Given the description of an element on the screen output the (x, y) to click on. 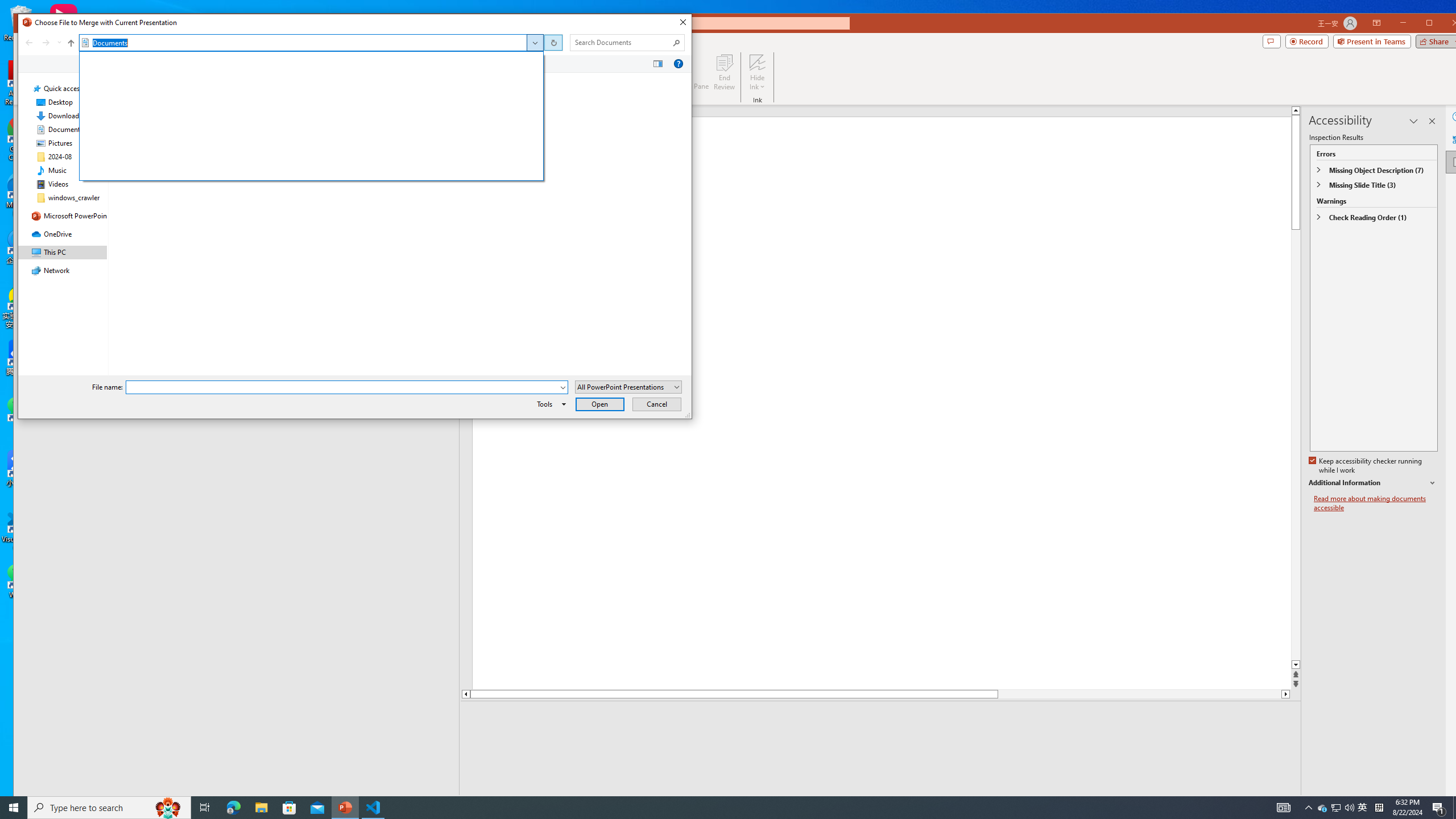
Navigation buttons (42, 42)
Q2790: 100% (1349, 807)
Tools (549, 404)
Sunlogin Files (286, 108)
Search Box (621, 42)
Type here to search (108, 807)
Files of type: (628, 386)
Slide Show Next On (1253, 802)
Maximize (1445, 24)
